Given the description of an element on the screen output the (x, y) to click on. 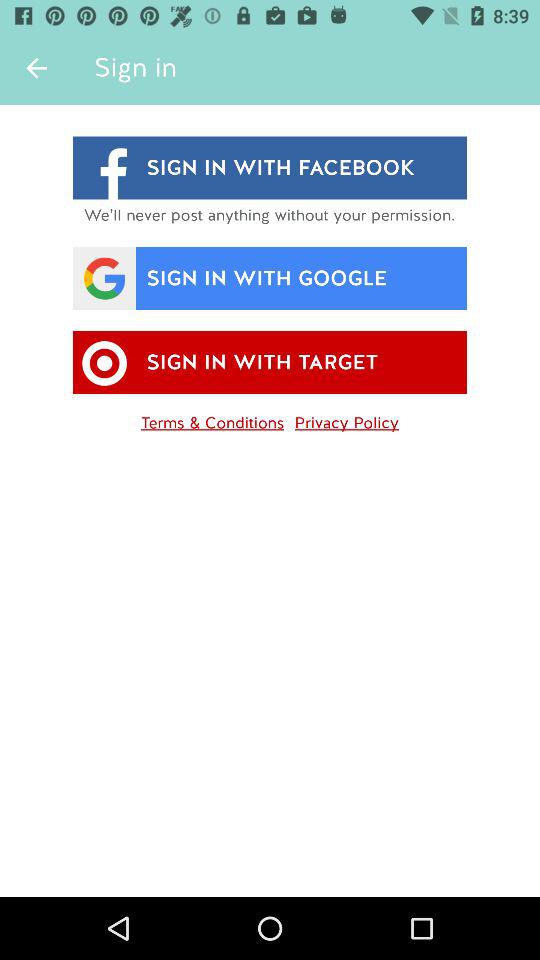
turn off icon below sign in with (212, 419)
